Given the description of an element on the screen output the (x, y) to click on. 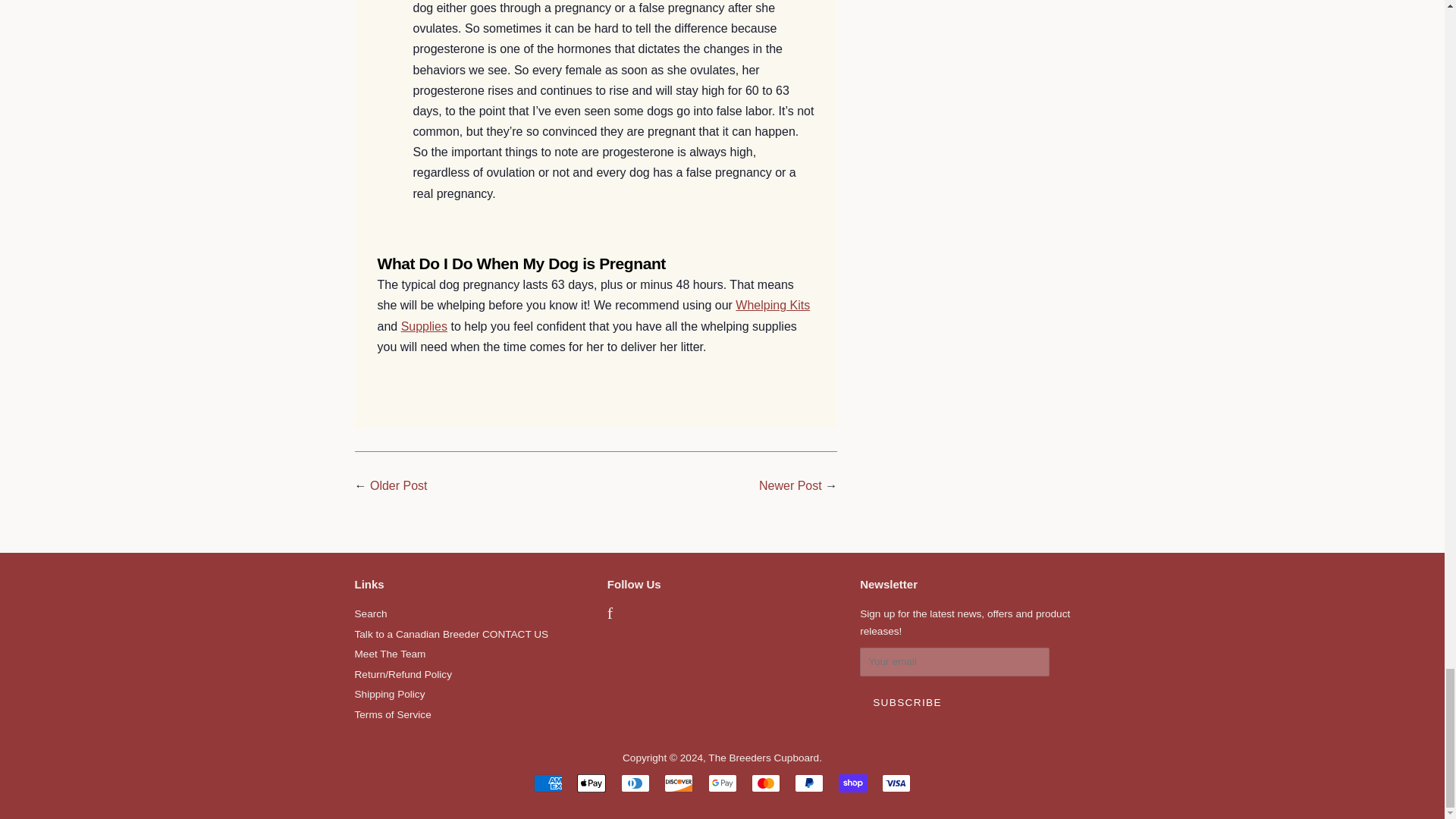
Visa (896, 782)
Discover (678, 782)
PayPal (809, 782)
Apple Pay (590, 782)
Diners Club (635, 782)
Subscribe (907, 702)
Shop Pay (852, 782)
American Express (548, 782)
Mastercard (765, 782)
Google Pay (721, 782)
